Given the description of an element on the screen output the (x, y) to click on. 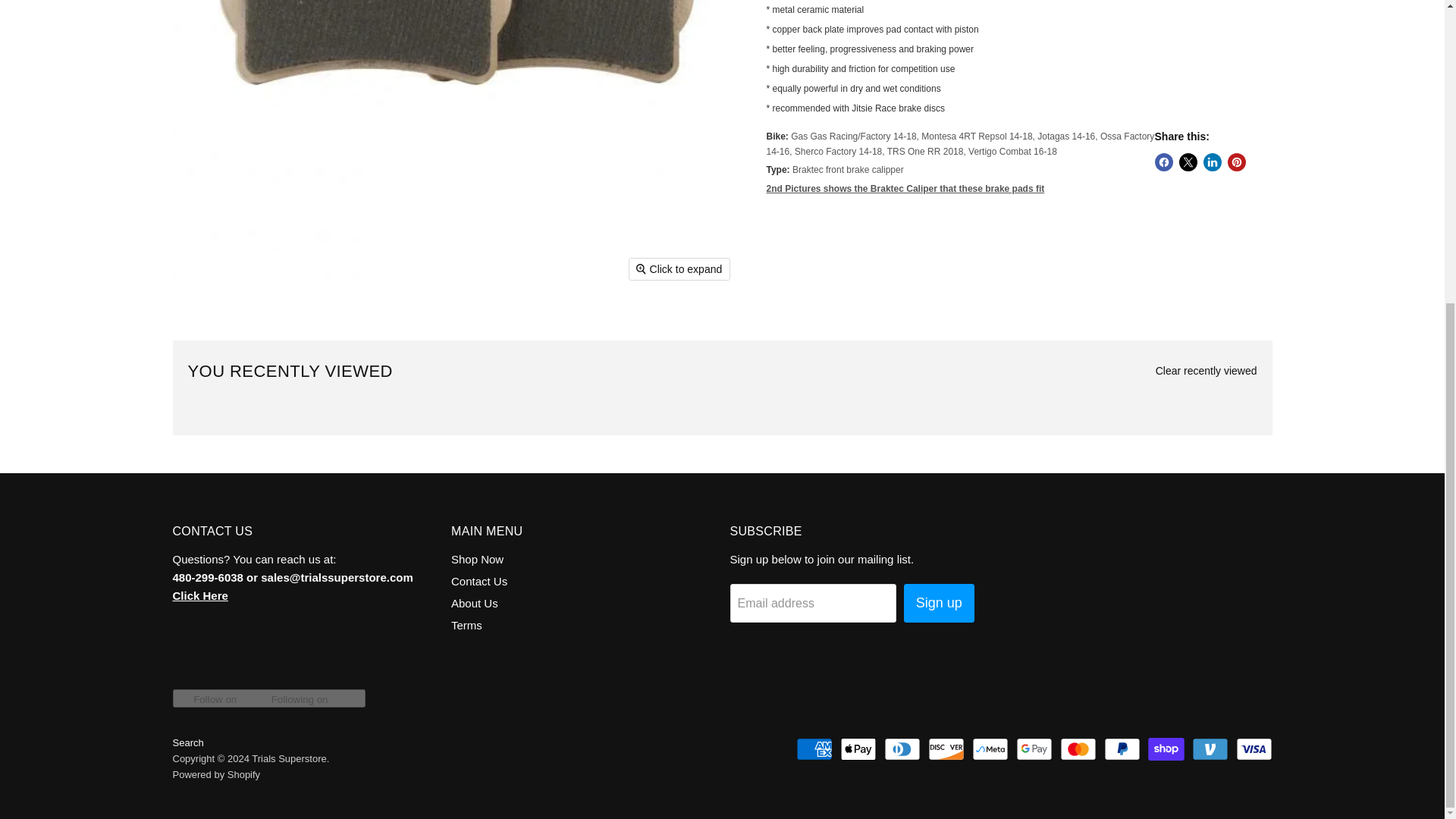
Discover (945, 748)
Contact (200, 594)
Diners Club (901, 748)
Mastercard (1077, 748)
American Express (814, 748)
Meta Pay (990, 748)
Apple Pay (858, 748)
Google Pay (1034, 748)
